Given the description of an element on the screen output the (x, y) to click on. 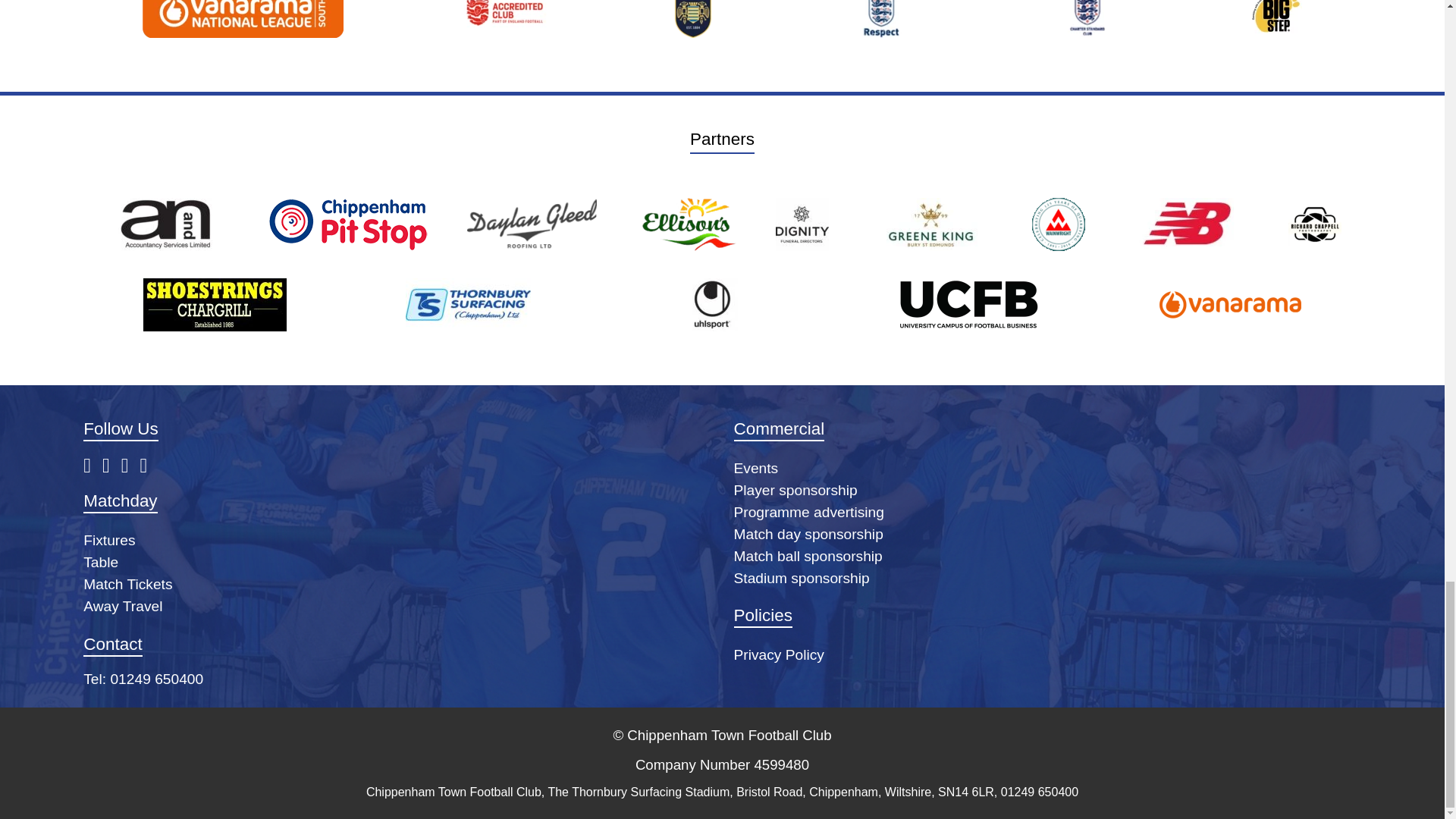
Chippenham Town Official YouTube Channel (129, 465)
Chippenham Town Official Twitter Account (110, 465)
Chippenham Town Official Facebook Page (91, 465)
Official Chippenham Town Instagram Account (148, 465)
